Given the description of an element on the screen output the (x, y) to click on. 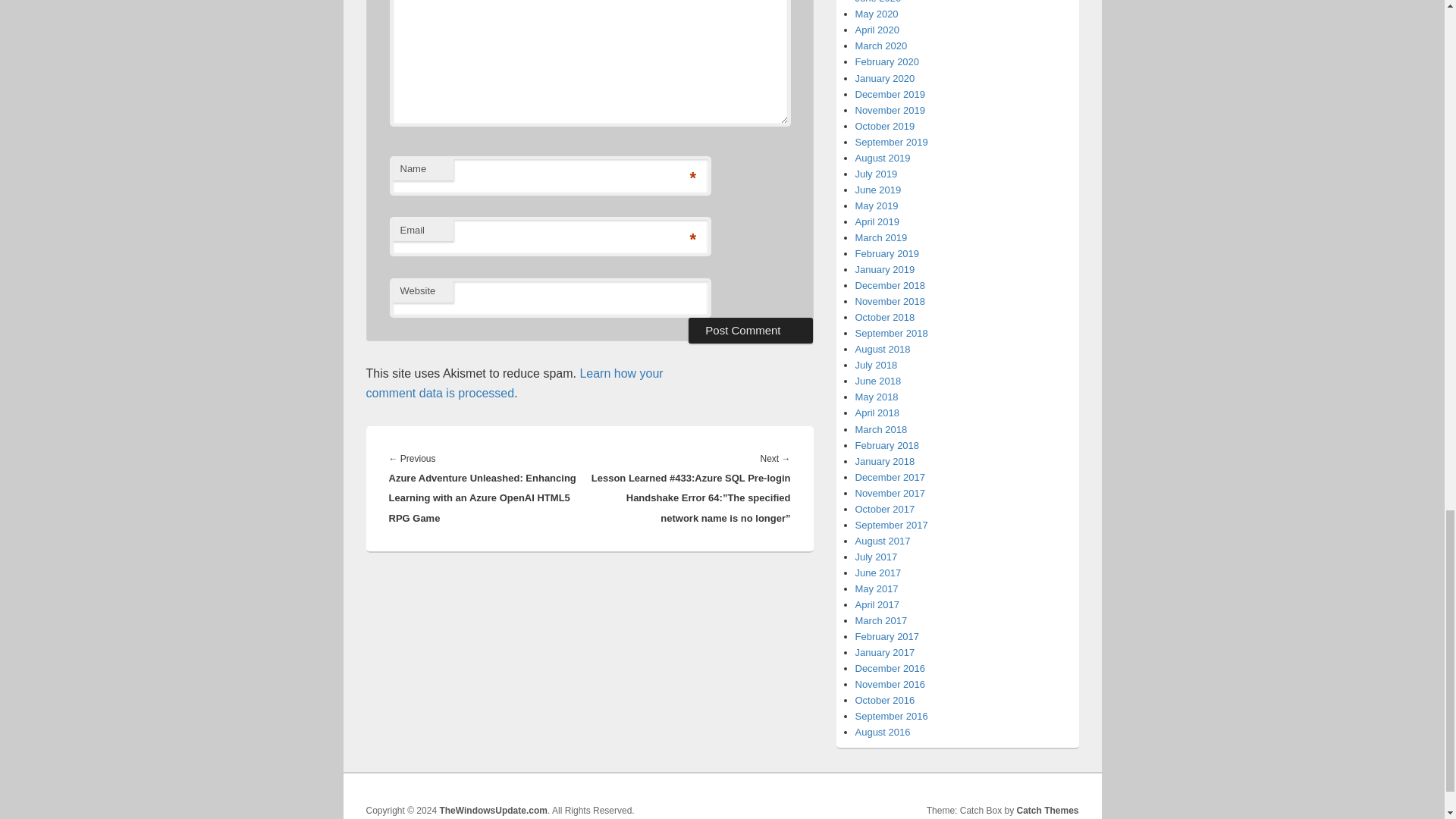
TheWindowsUpdate.com (493, 810)
Post Comment (750, 330)
Post Comment (750, 330)
Learn how your comment data is processed (513, 382)
Catch Themes (1047, 810)
